Given the description of an element on the screen output the (x, y) to click on. 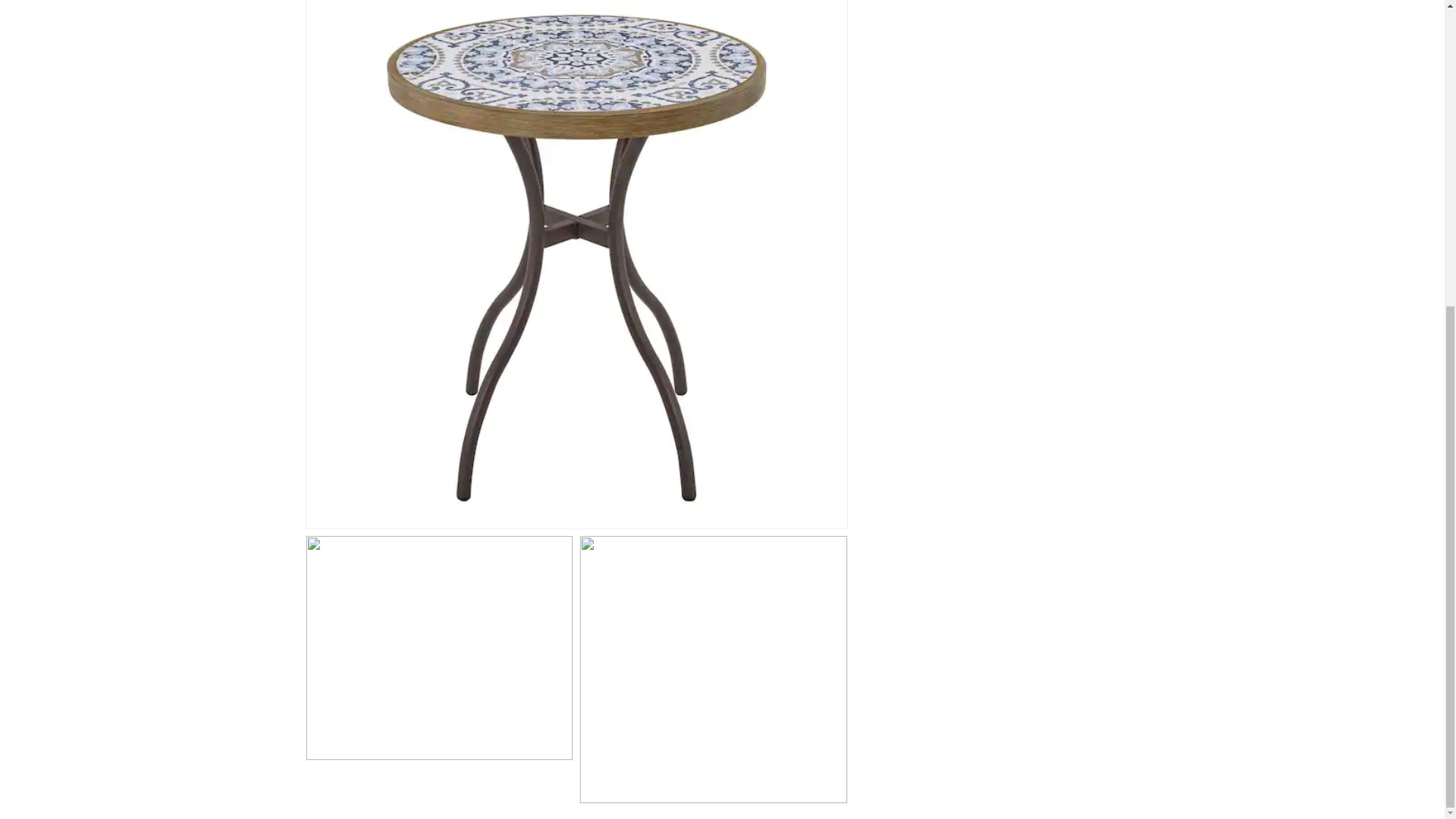
Open media 2 in modal (438, 261)
Open media 1 in modal (575, 60)
Open media 3 in modal (713, 261)
Sold out (1008, 12)
